Given the description of an element on the screen output the (x, y) to click on. 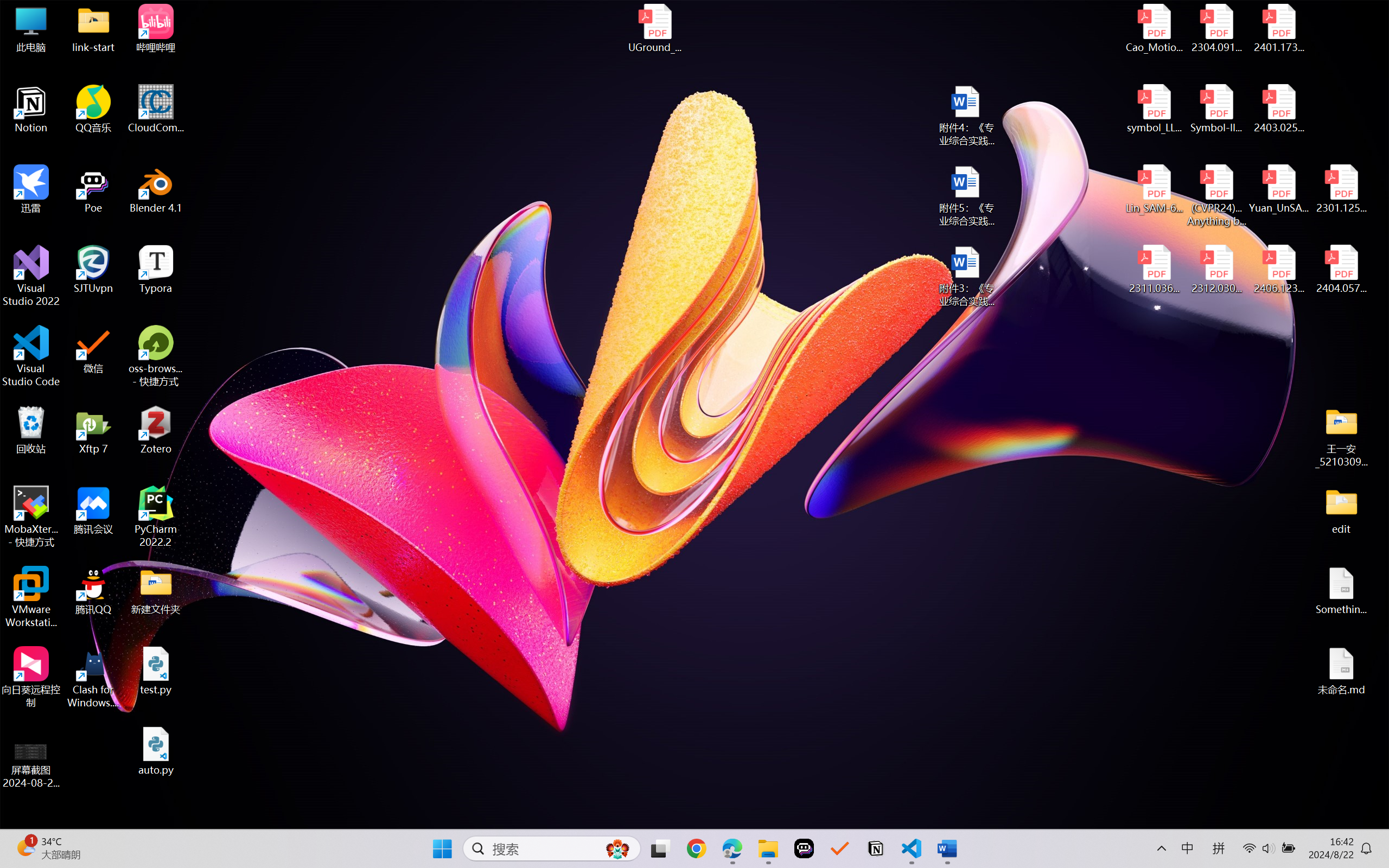
symbol_LLM.pdf (1154, 109)
edit (1340, 510)
Symbol-llm-v2.pdf (1216, 109)
2404.05719v1.pdf (1340, 269)
